Given the description of an element on the screen output the (x, y) to click on. 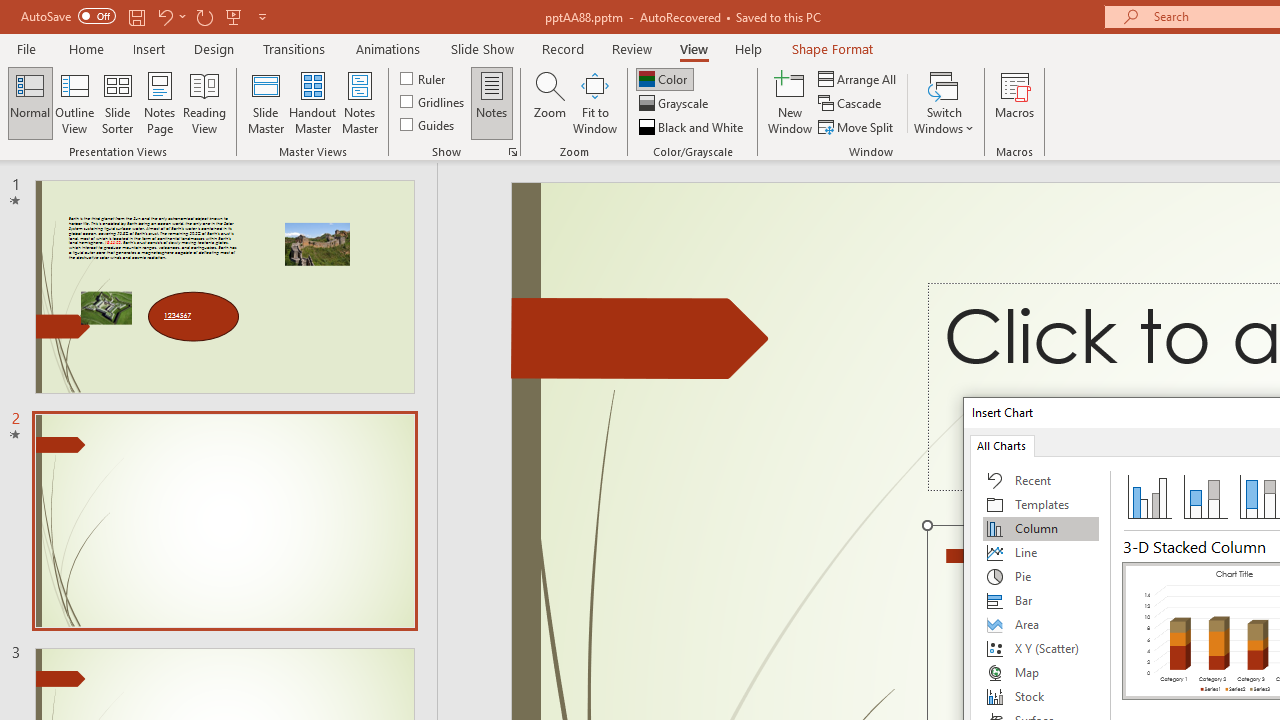
Color (664, 78)
Guides (428, 124)
Area (1041, 624)
Gridlines (433, 101)
Bar (1041, 600)
Ruler (423, 78)
Grid Settings... (512, 151)
Notes Master (360, 102)
New Window (790, 102)
Map (1041, 672)
